Given the description of an element on the screen output the (x, y) to click on. 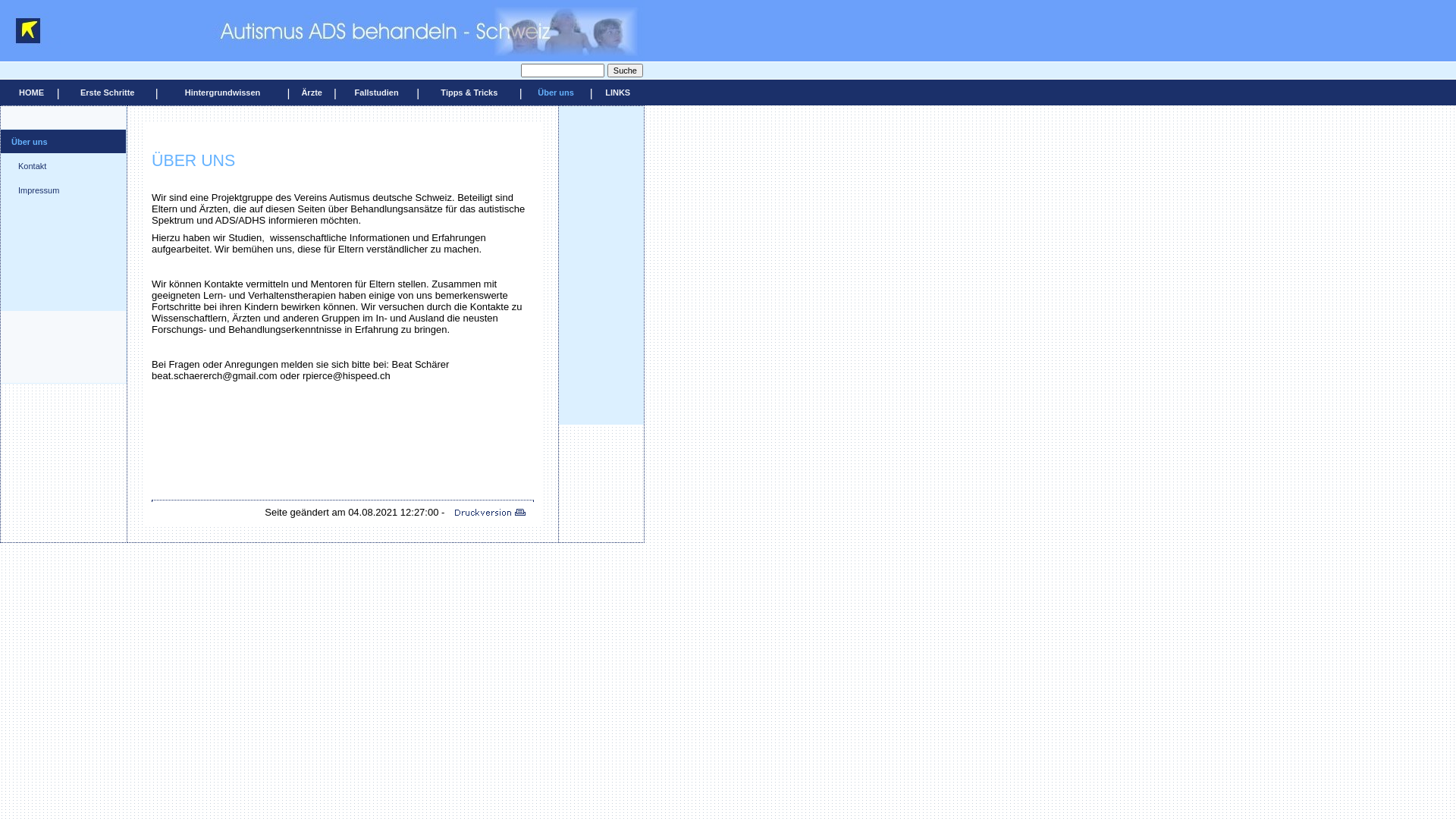
Kontakt Element type: text (32, 164)
Erste Schritte Element type: text (107, 92)
Hintergrundwissen Element type: text (222, 92)
Impressum Element type: text (38, 189)
Tipps & Tricks Element type: text (468, 92)
Fallstudien Element type: text (376, 92)
LINKS Element type: text (617, 92)
HOME Element type: text (30, 92)
